Given the description of an element on the screen output the (x, y) to click on. 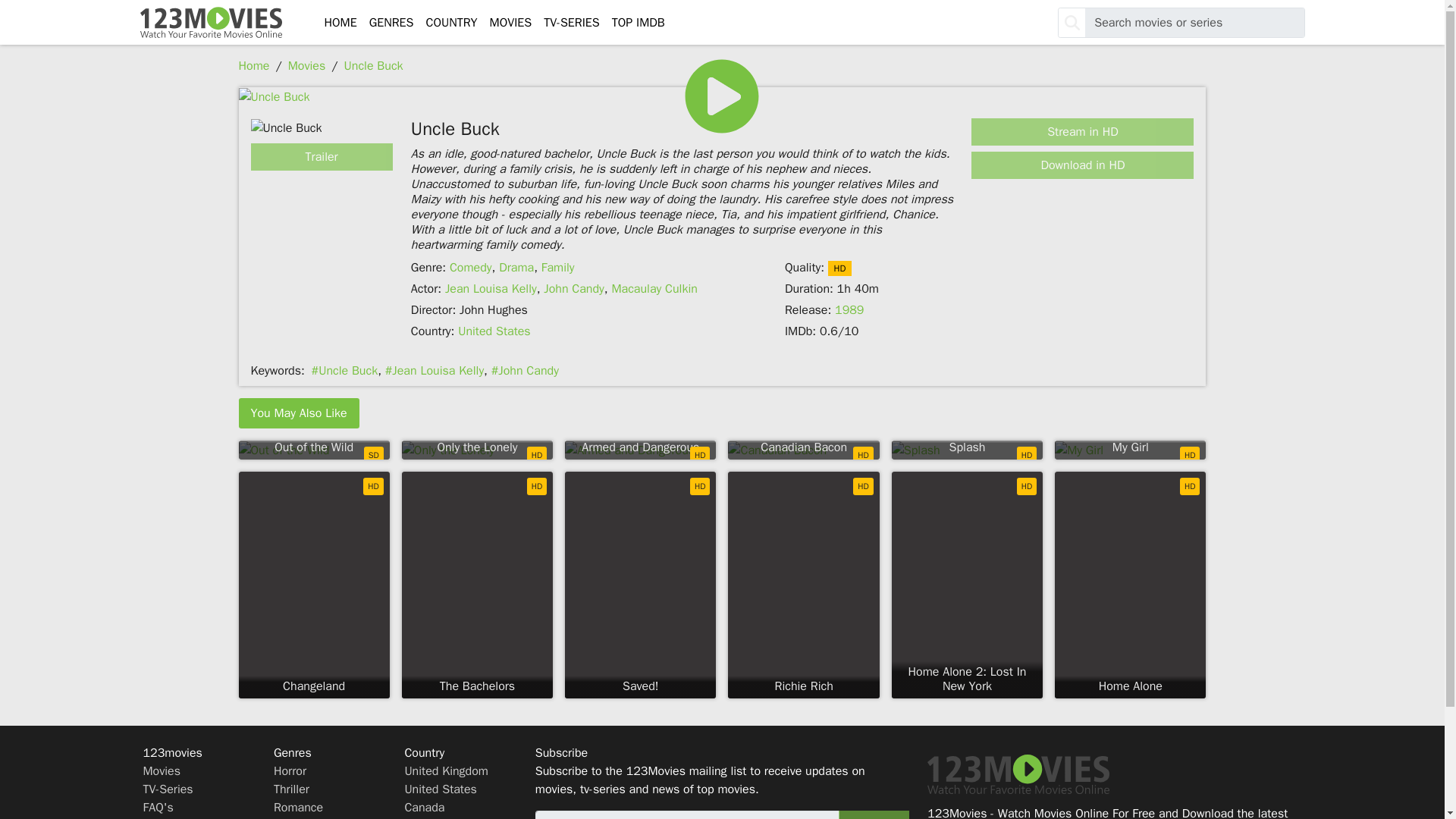
123Movies (210, 22)
123Movies (210, 22)
HOME (340, 22)
GENRES (391, 22)
